Given the description of an element on the screen output the (x, y) to click on. 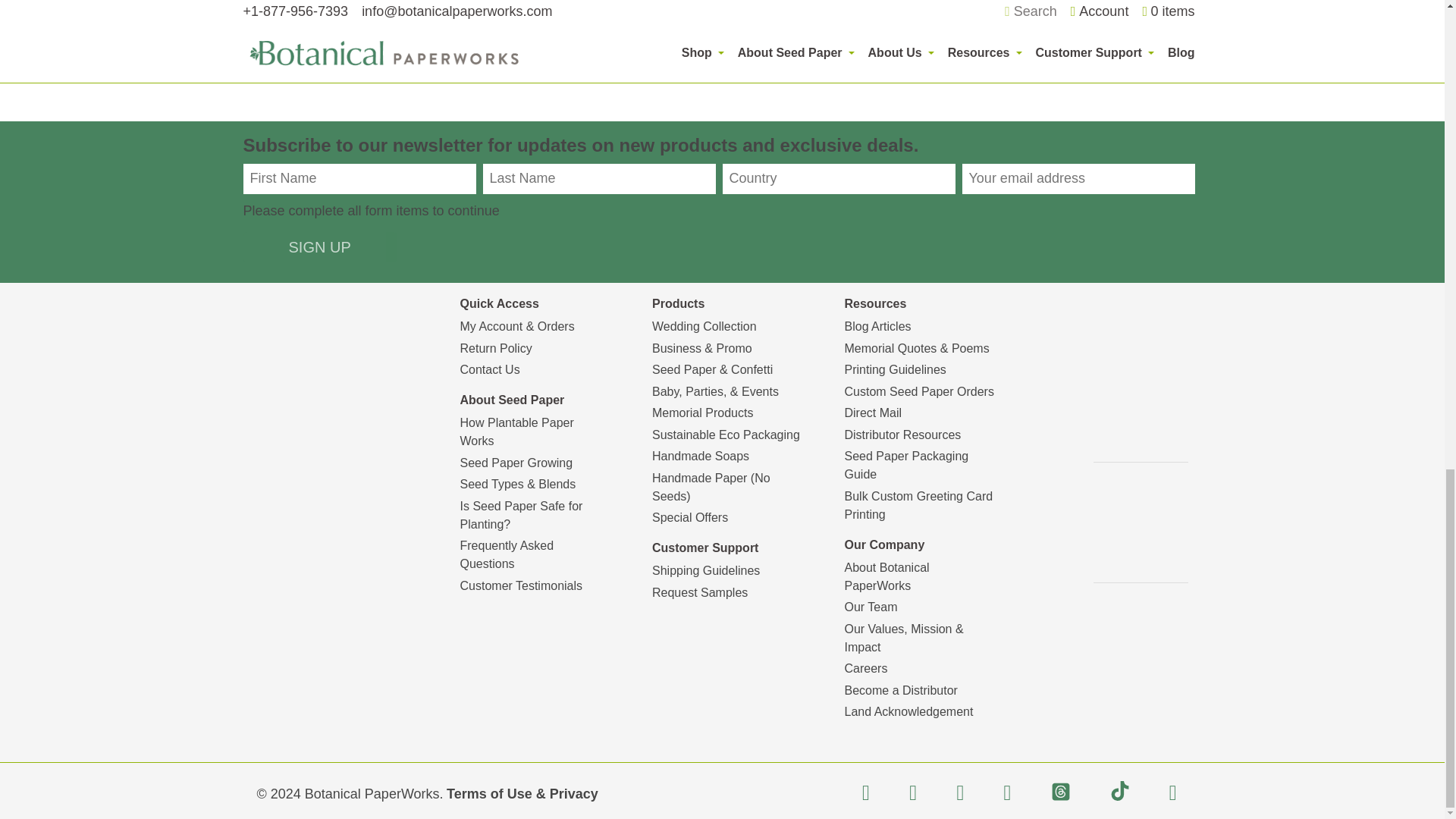
Sign up (319, 246)
